Given the description of an element on the screen output the (x, y) to click on. 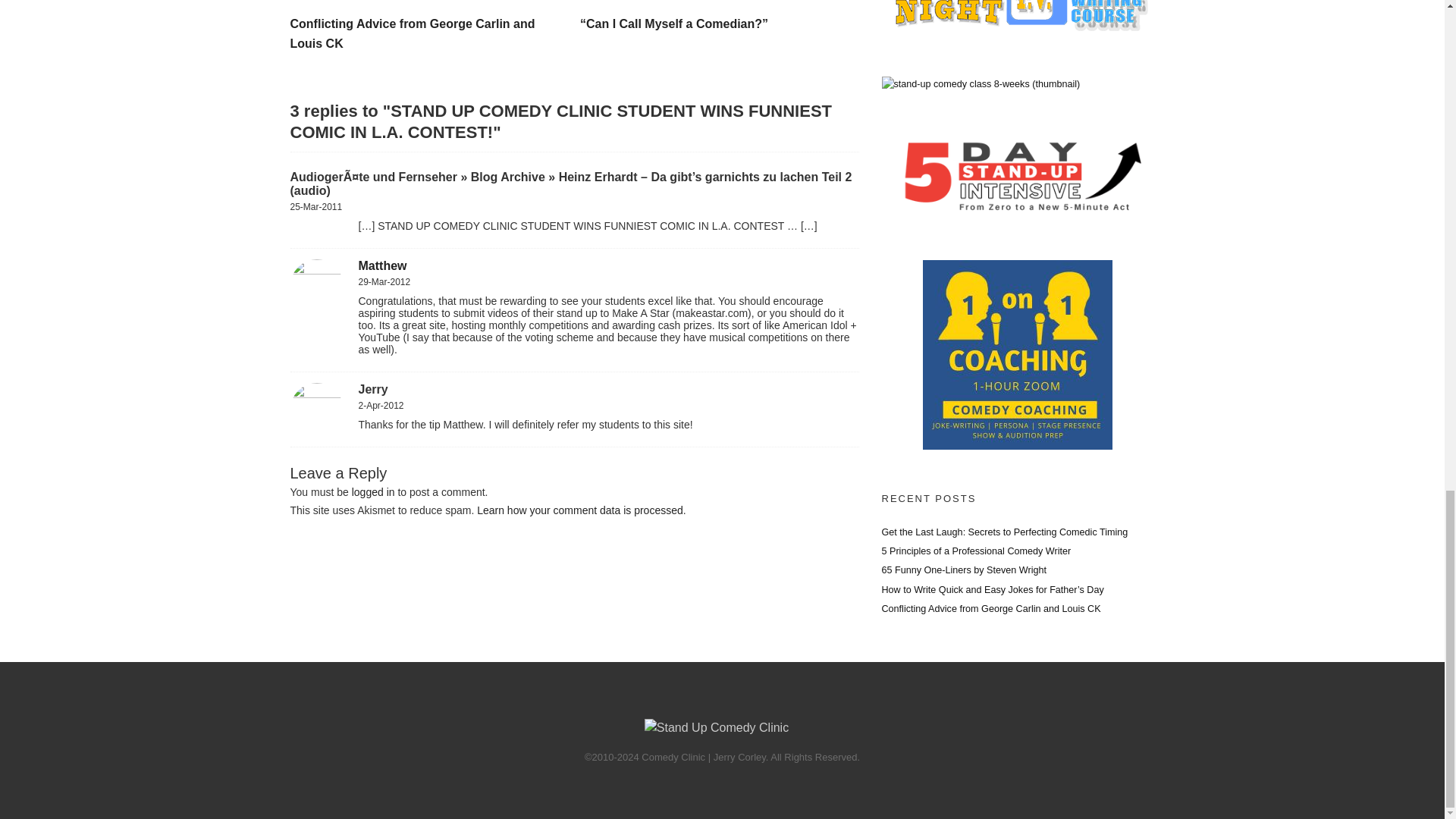
Conflicting Advice from George Carlin and Louis CK (429, 4)
Conflicting Advice from George Carlin and Louis CK (411, 33)
Stand Up Comedy Clinic (717, 728)
Jerry (372, 389)
logged in (373, 491)
